Given the description of an element on the screen output the (x, y) to click on. 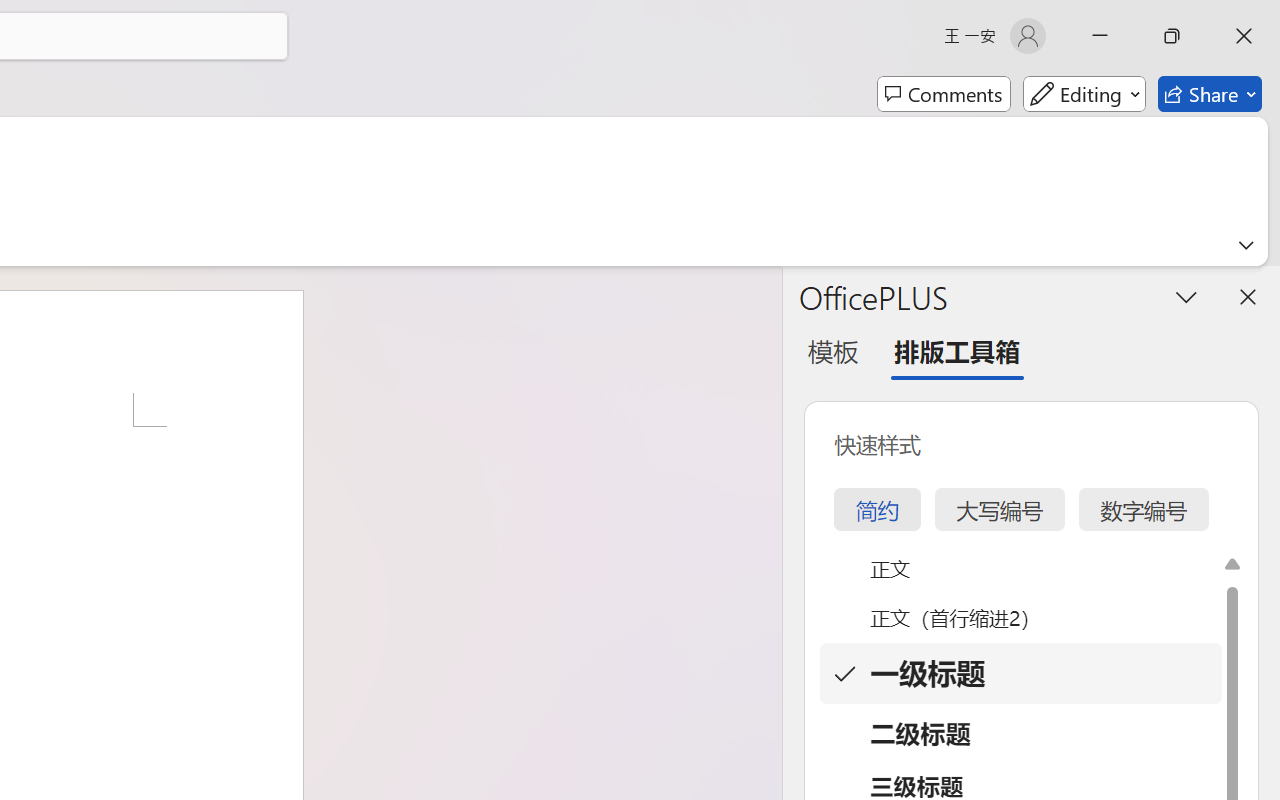
Task Pane Options (1186, 296)
